Given the description of an element on the screen output the (x, y) to click on. 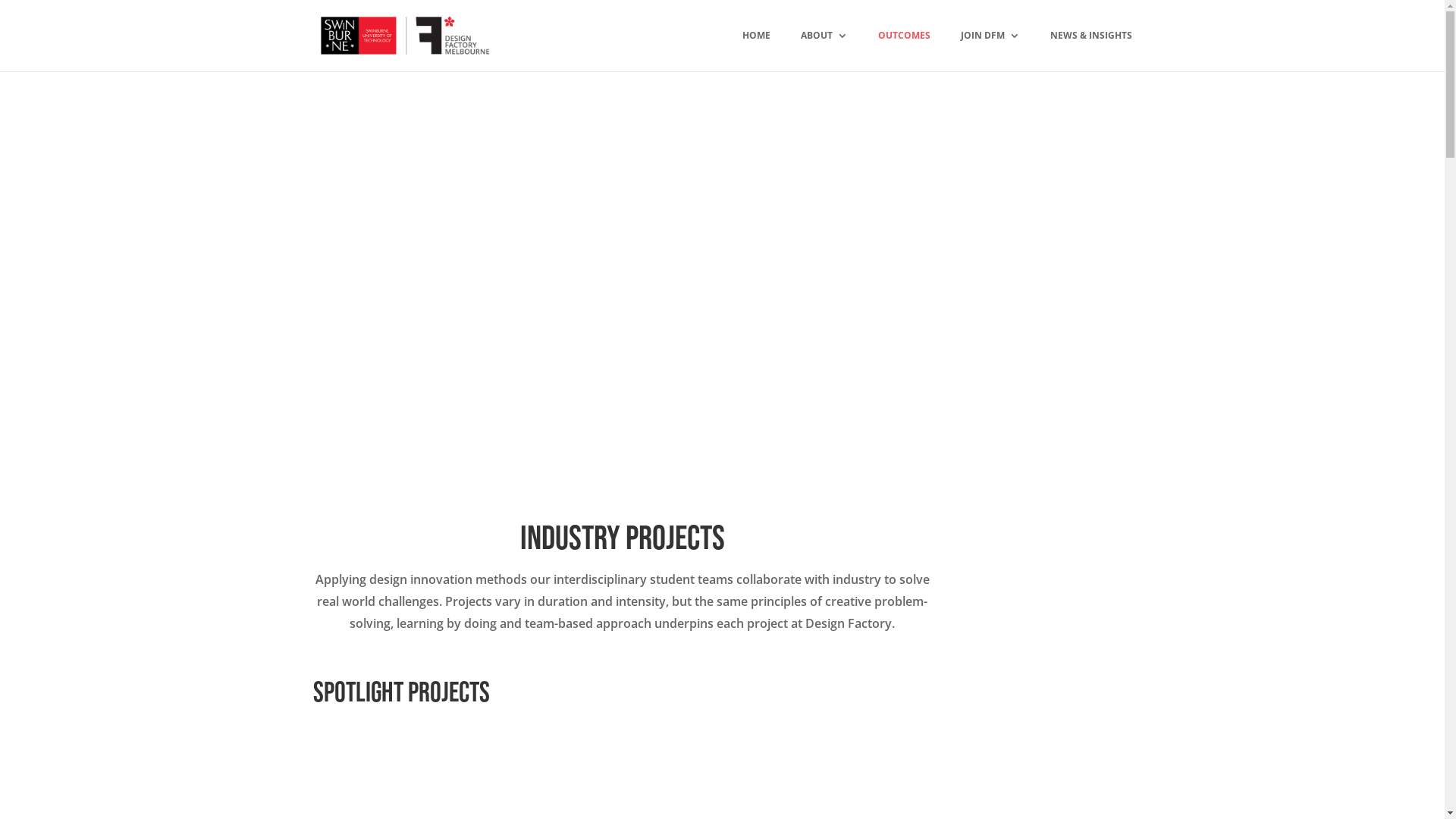
NEWS & INSIGHTS Element type: text (1090, 47)
ABOUT Element type: text (823, 47)
HOME Element type: text (755, 47)
JOIN DFM Element type: text (989, 47)
OUTCOMES Element type: text (904, 47)
